Given the description of an element on the screen output the (x, y) to click on. 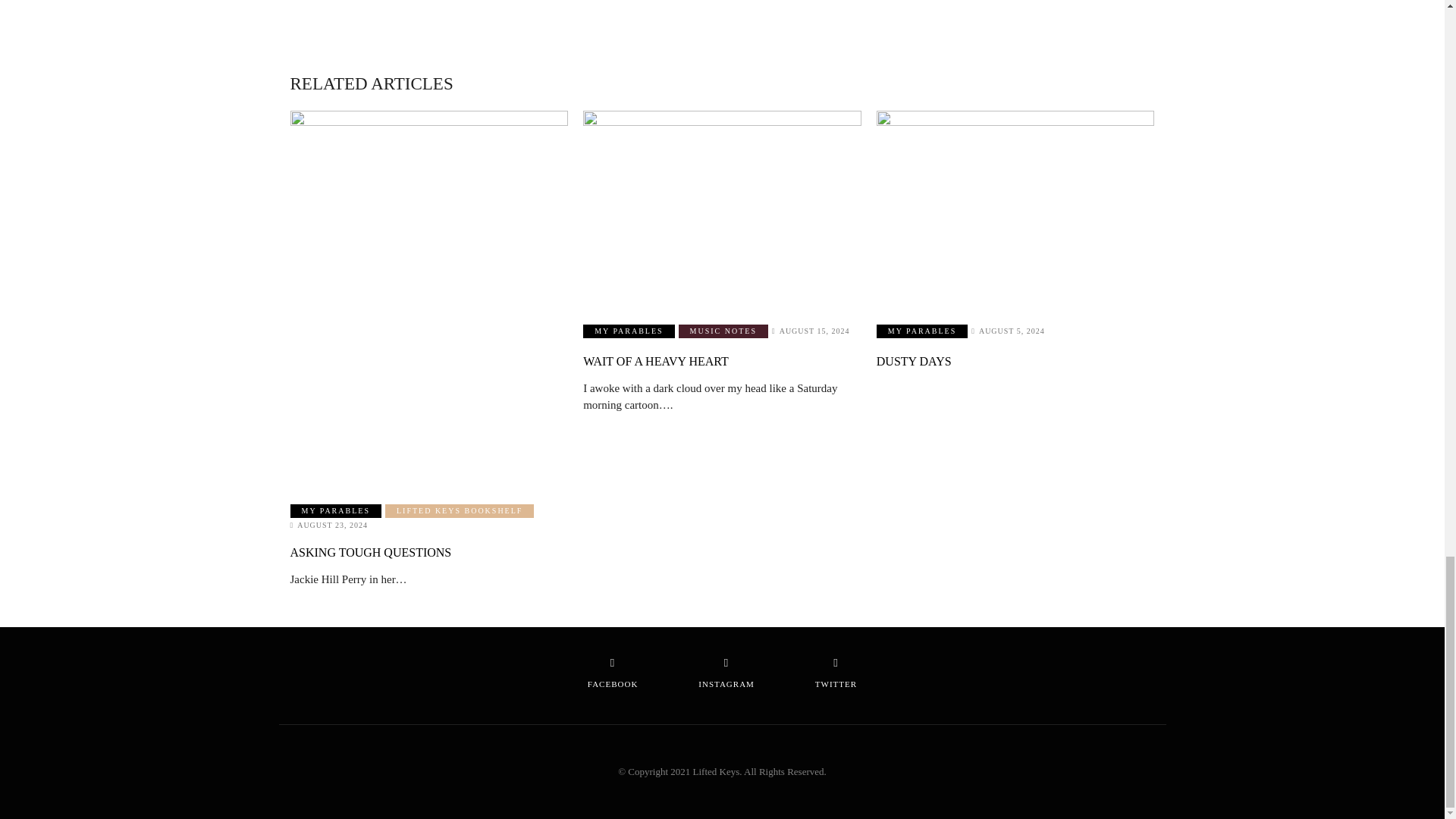
Dusty Days (1015, 207)
Wait of a Heavy Heart (722, 207)
MY PARABLES (334, 510)
